Given the description of an element on the screen output the (x, y) to click on. 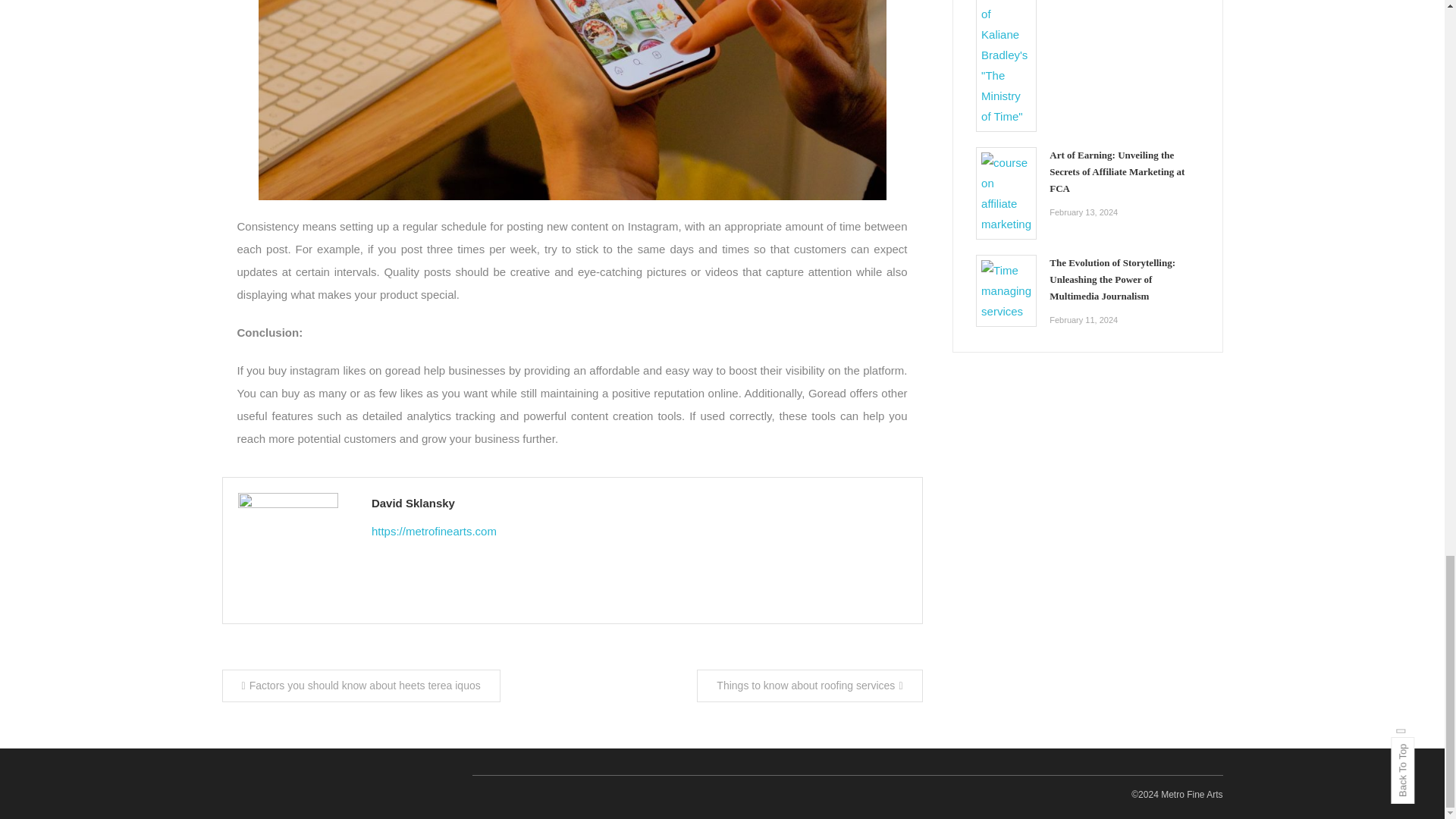
Things to know about roofing services (809, 685)
David Sklansky (639, 503)
Factors you should know about heets terea iquos (360, 685)
